Given the description of an element on the screen output the (x, y) to click on. 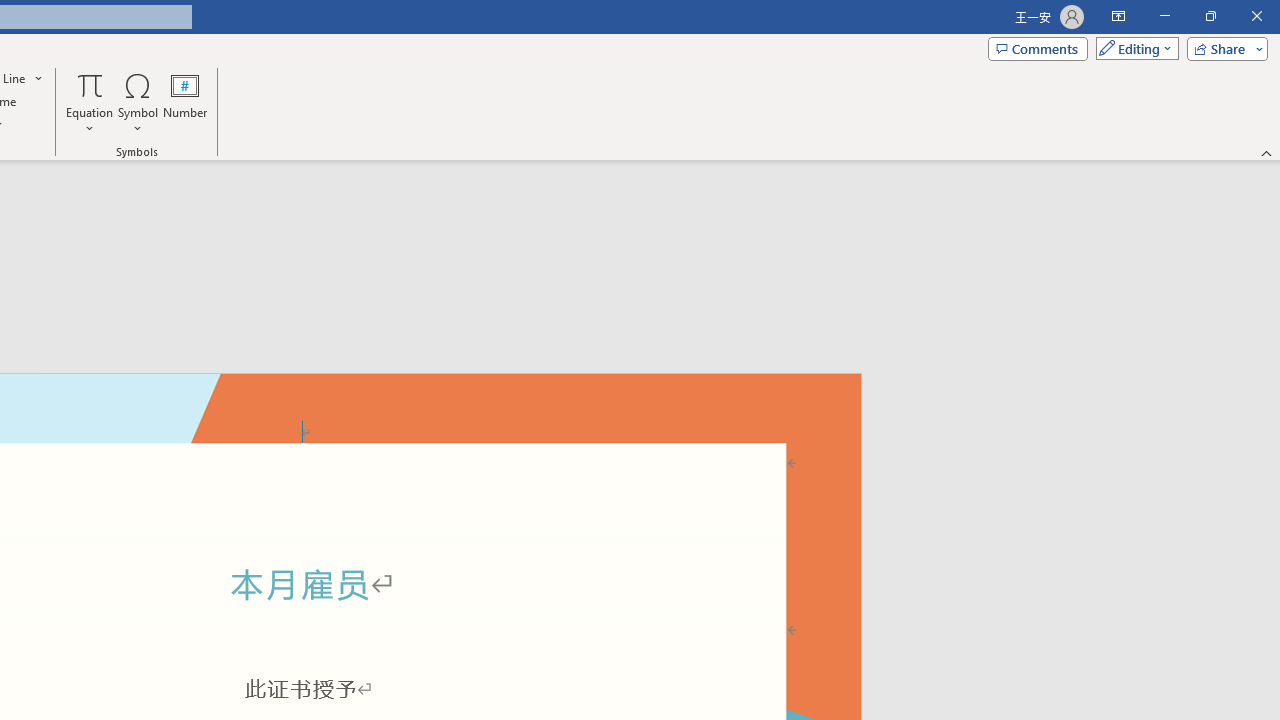
Equation (90, 84)
Equation (90, 102)
Number... (185, 102)
Mode (1133, 47)
Symbol (138, 102)
